Given the description of an element on the screen output the (x, y) to click on. 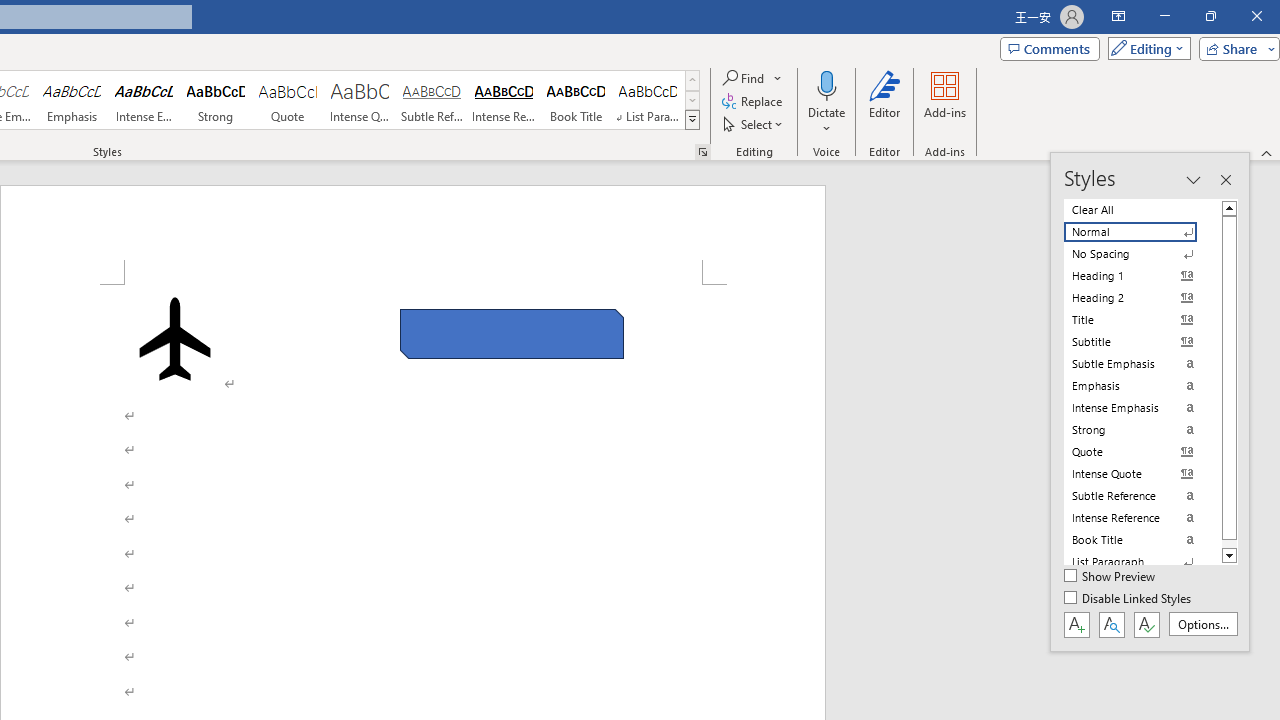
Restore Down (1210, 16)
Options... (1202, 623)
More Options (826, 121)
Emphasis (71, 100)
Row Down (692, 100)
Heading 1 (1142, 275)
Share (1235, 48)
Task Pane Options (1193, 179)
Ribbon Display Options (1118, 16)
Collapse the Ribbon (1267, 152)
Intense Emphasis (143, 100)
Class: NetUIImage (692, 119)
Subtle Reference (431, 100)
